Given the description of an element on the screen output the (x, y) to click on. 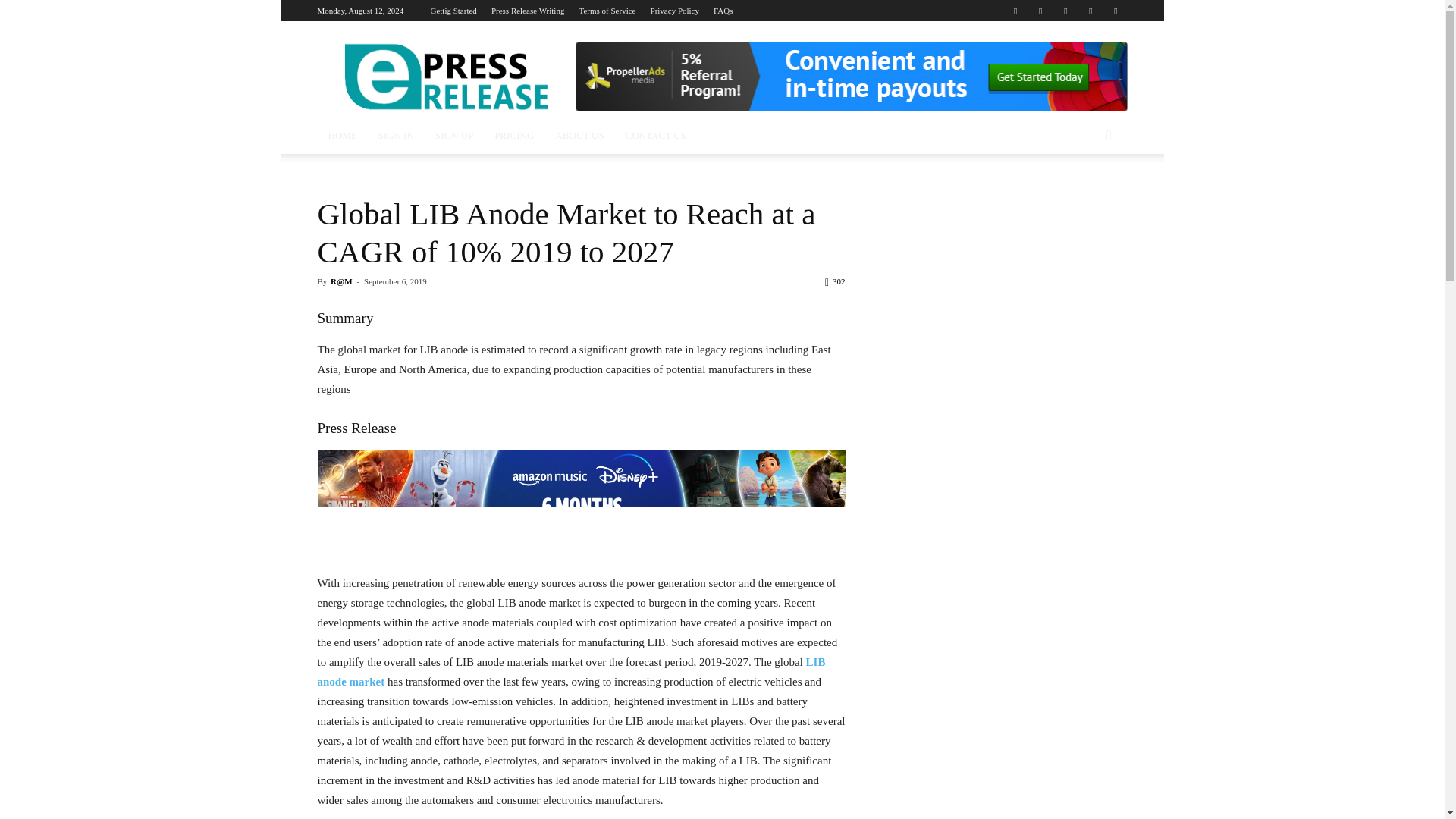
Reddit (1065, 10)
FAQs (722, 10)
Gettig Started (452, 10)
RSS (1090, 10)
SIGN IN (396, 135)
LIB anode market (571, 671)
HOME (341, 135)
Facebook (1015, 10)
Search (1085, 196)
PRICING (513, 135)
